Given the description of an element on the screen output the (x, y) to click on. 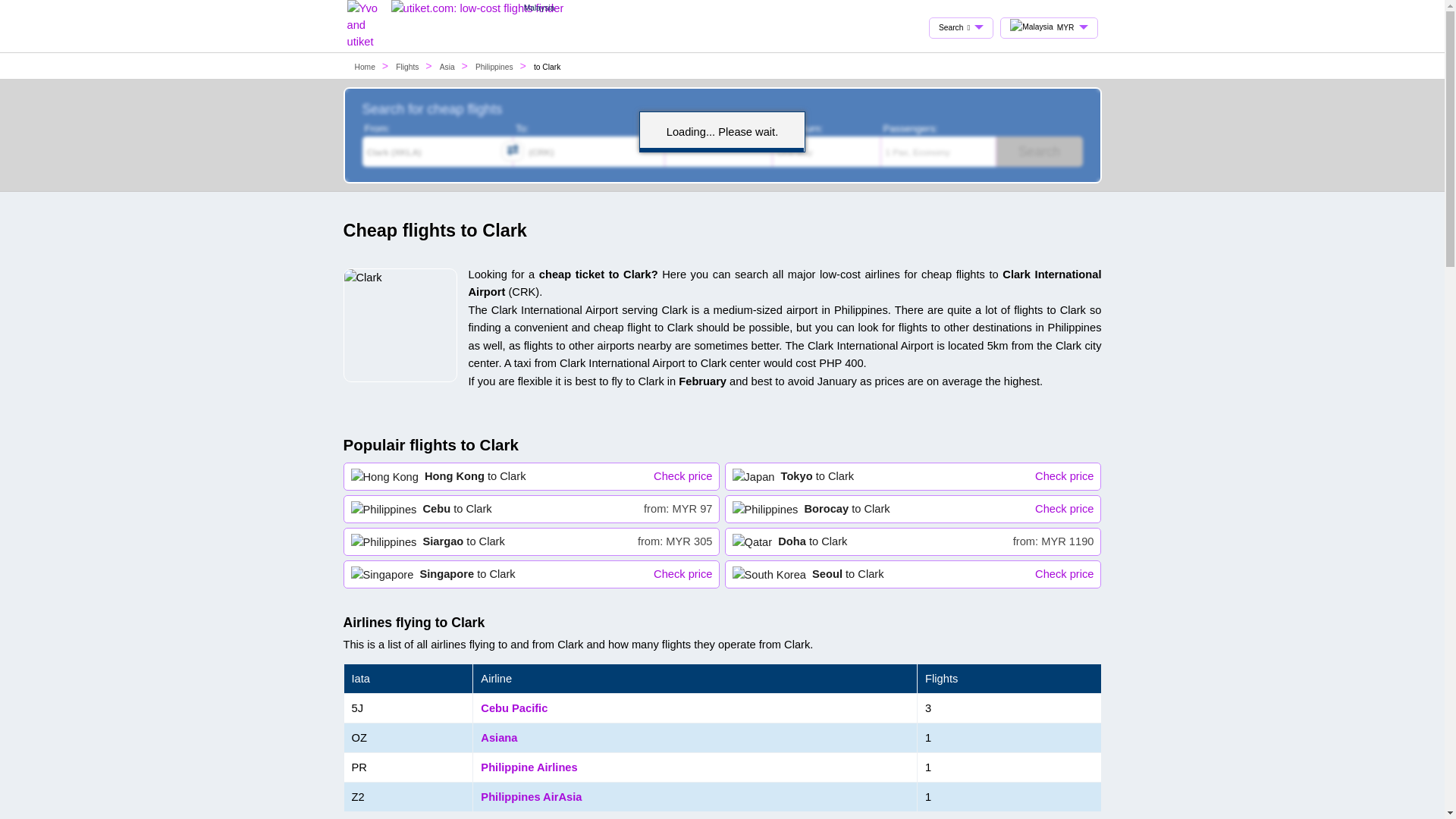
1 Pax, Economy (937, 151)
return (531, 508)
Philippines (912, 508)
Search (912, 574)
